Given the description of an element on the screen output the (x, y) to click on. 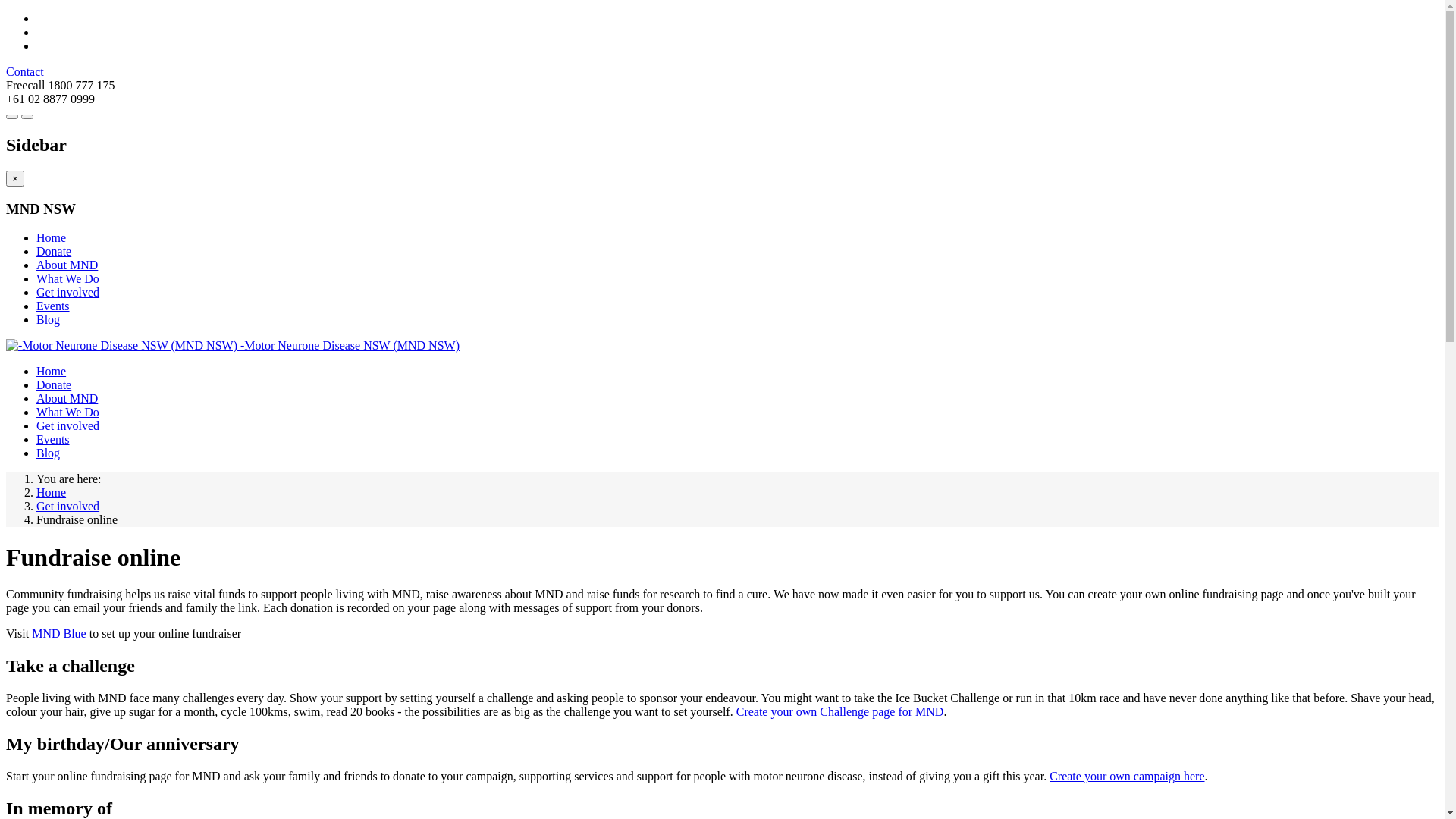
Contact Element type: text (24, 71)
What We Do Element type: text (67, 278)
Blog Element type: text (47, 319)
Get involved Element type: text (67, 505)
About MND Element type: text (66, 398)
Donate Element type: text (53, 250)
What We Do Element type: text (67, 411)
Get involved Element type: text (67, 425)
MND Blue Element type: text (58, 633)
Create your own campaign here Element type: text (1126, 775)
Home Element type: text (50, 492)
Create your own Challenge page for MND Element type: text (840, 711)
Events Element type: text (52, 305)
About MND Element type: text (66, 264)
Donate Element type: text (53, 384)
-Motor Neurone Disease NSW (MND NSW) Element type: text (232, 344)
Blog Element type: text (47, 452)
Get involved Element type: text (67, 291)
Home Element type: text (50, 237)
Home Element type: text (50, 370)
Events Element type: text (52, 439)
